Given the description of an element on the screen output the (x, y) to click on. 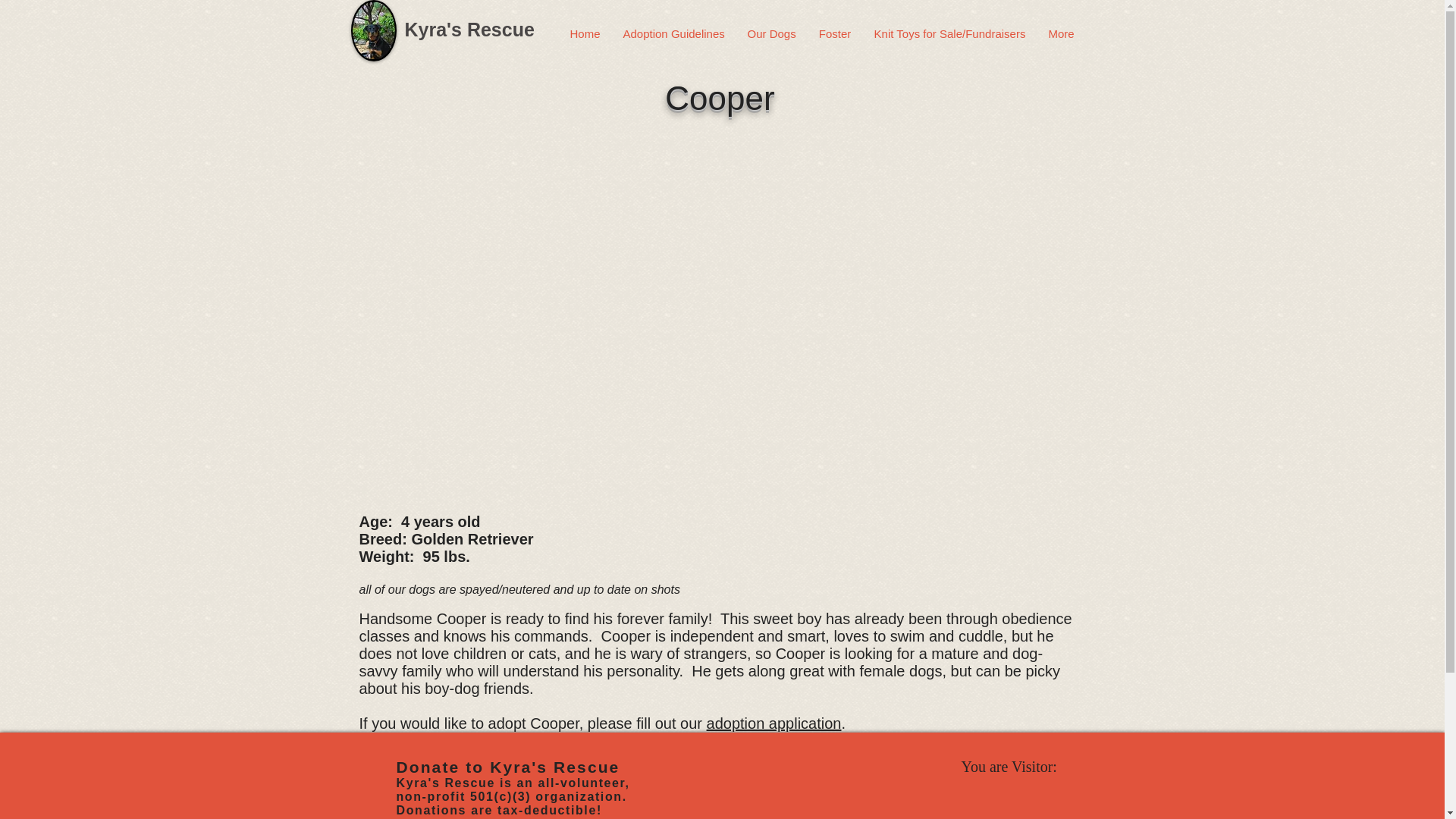
Our Dogs (770, 33)
Kyra's Rescue (469, 29)
Home (584, 33)
Foster (833, 33)
adoption application (773, 723)
Adoption Guidelines (673, 33)
